Given the description of an element on the screen output the (x, y) to click on. 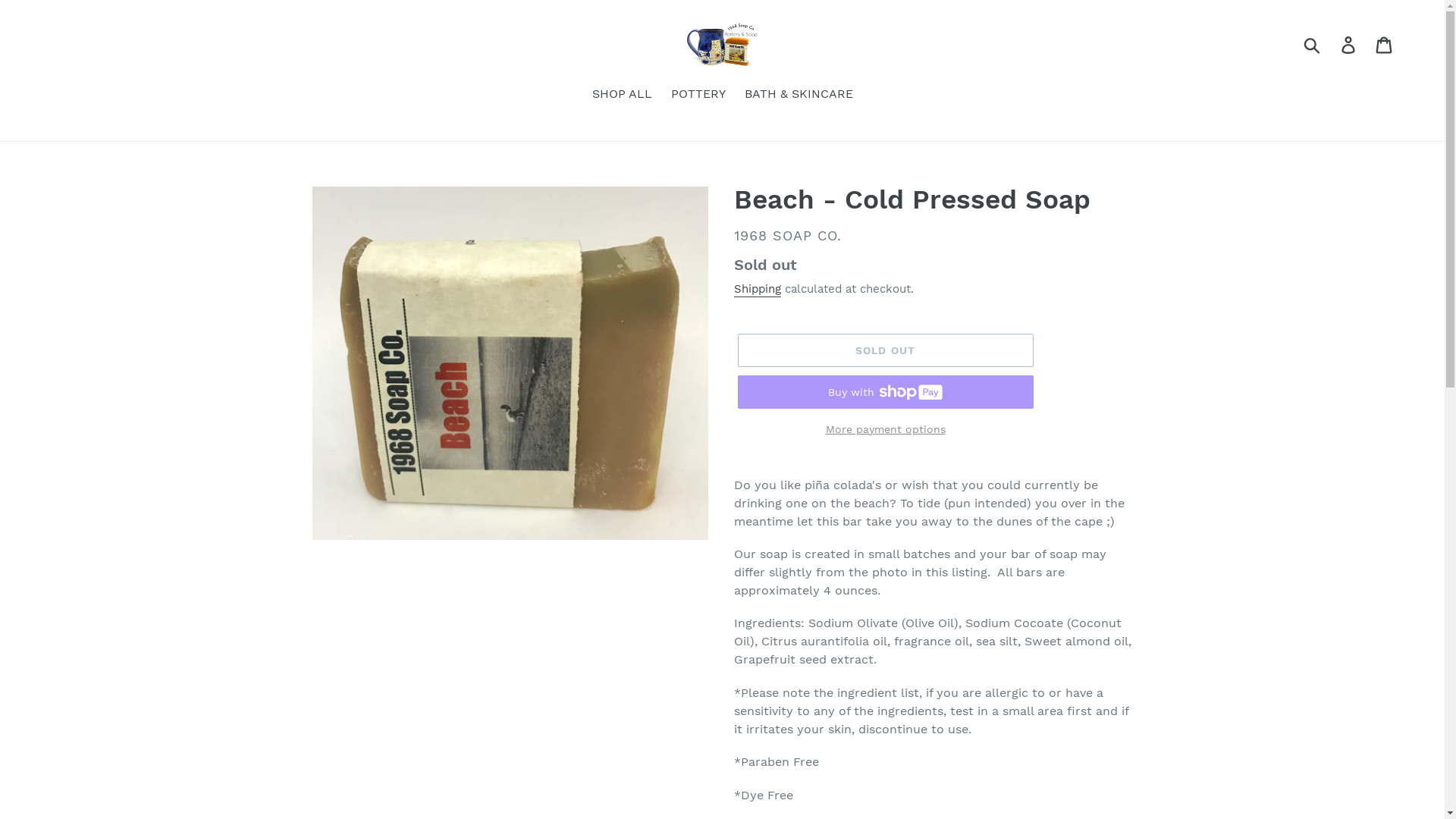
Shipping Element type: text (757, 289)
SOLD OUT Element type: text (884, 350)
Submit Element type: text (1312, 43)
More payment options Element type: text (884, 429)
BATH & SKINCARE Element type: text (798, 94)
Log in Element type: text (1349, 44)
POTTERY Element type: text (697, 94)
Cart Element type: text (1384, 44)
SHOP ALL Element type: text (620, 94)
